Given the description of an element on the screen output the (x, y) to click on. 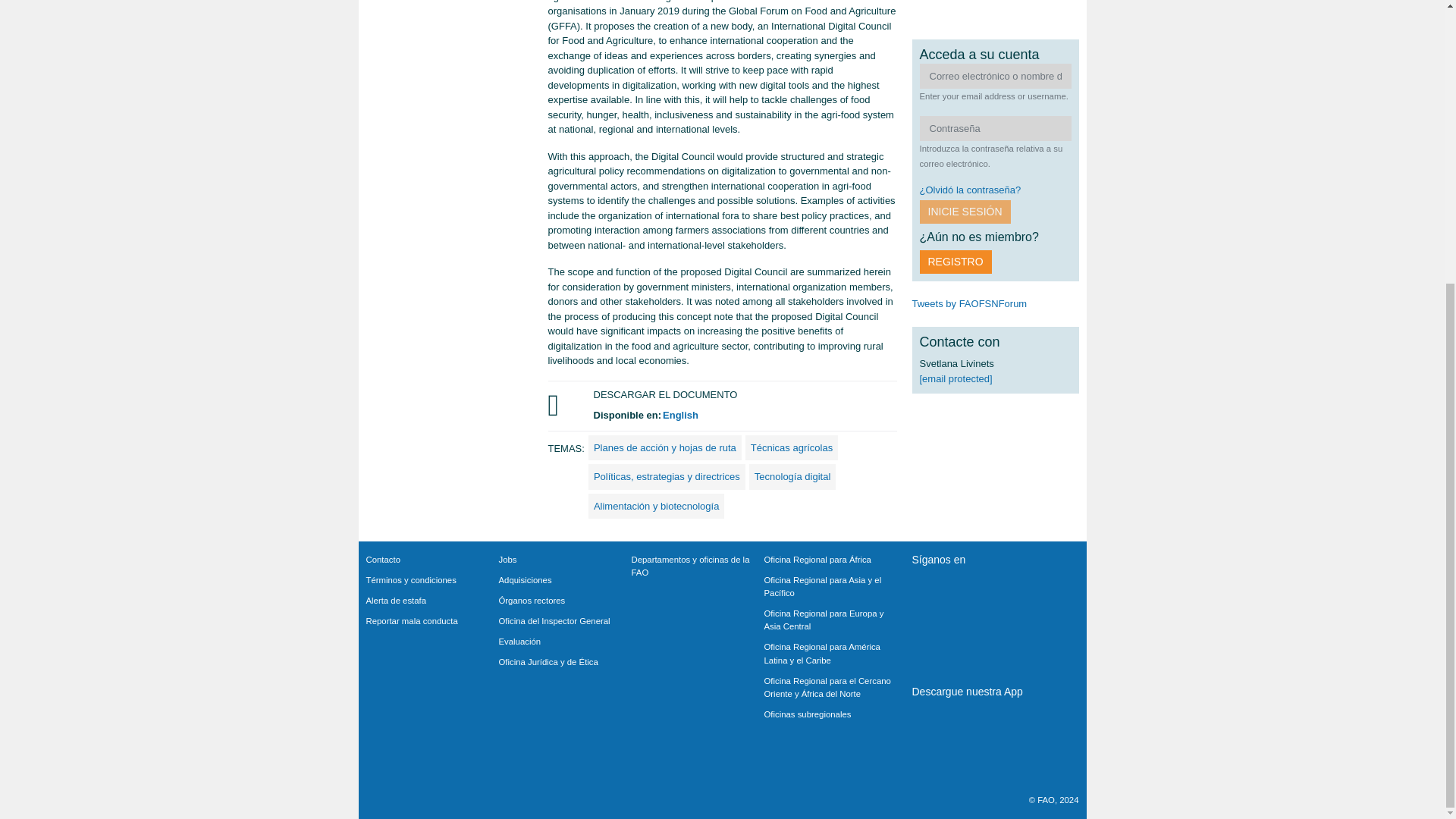
English (680, 414)
Contacto (431, 563)
Alerta de estafa (431, 604)
Tweets by FAOFSNForum (968, 303)
REGISTRO (954, 261)
